Given the description of an element on the screen output the (x, y) to click on. 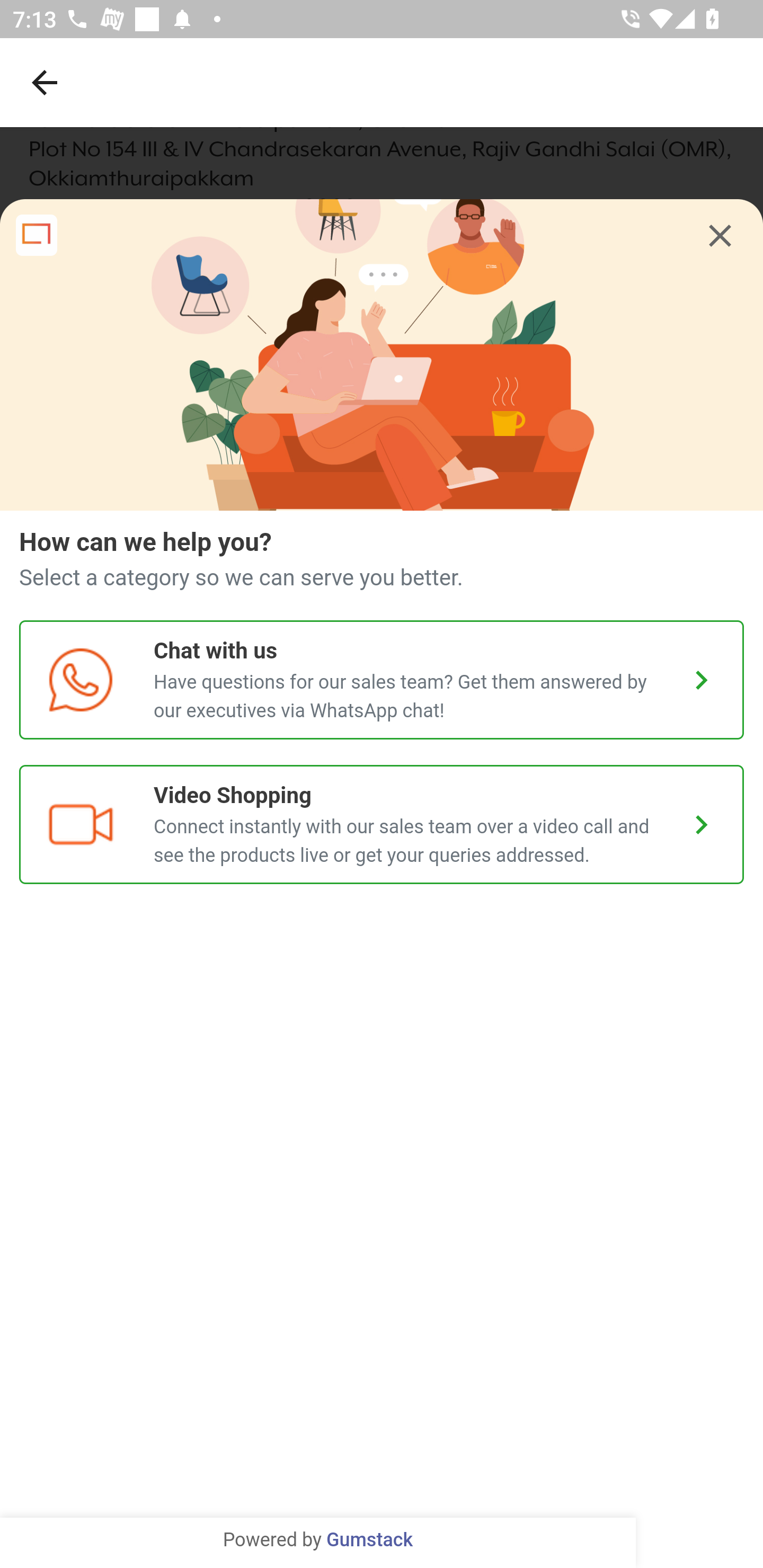
Navigate up (44, 82)
clear (720, 235)
SEE IN MAPS (381, 1530)
Gumstack (369, 1540)
